Given the description of an element on the screen output the (x, y) to click on. 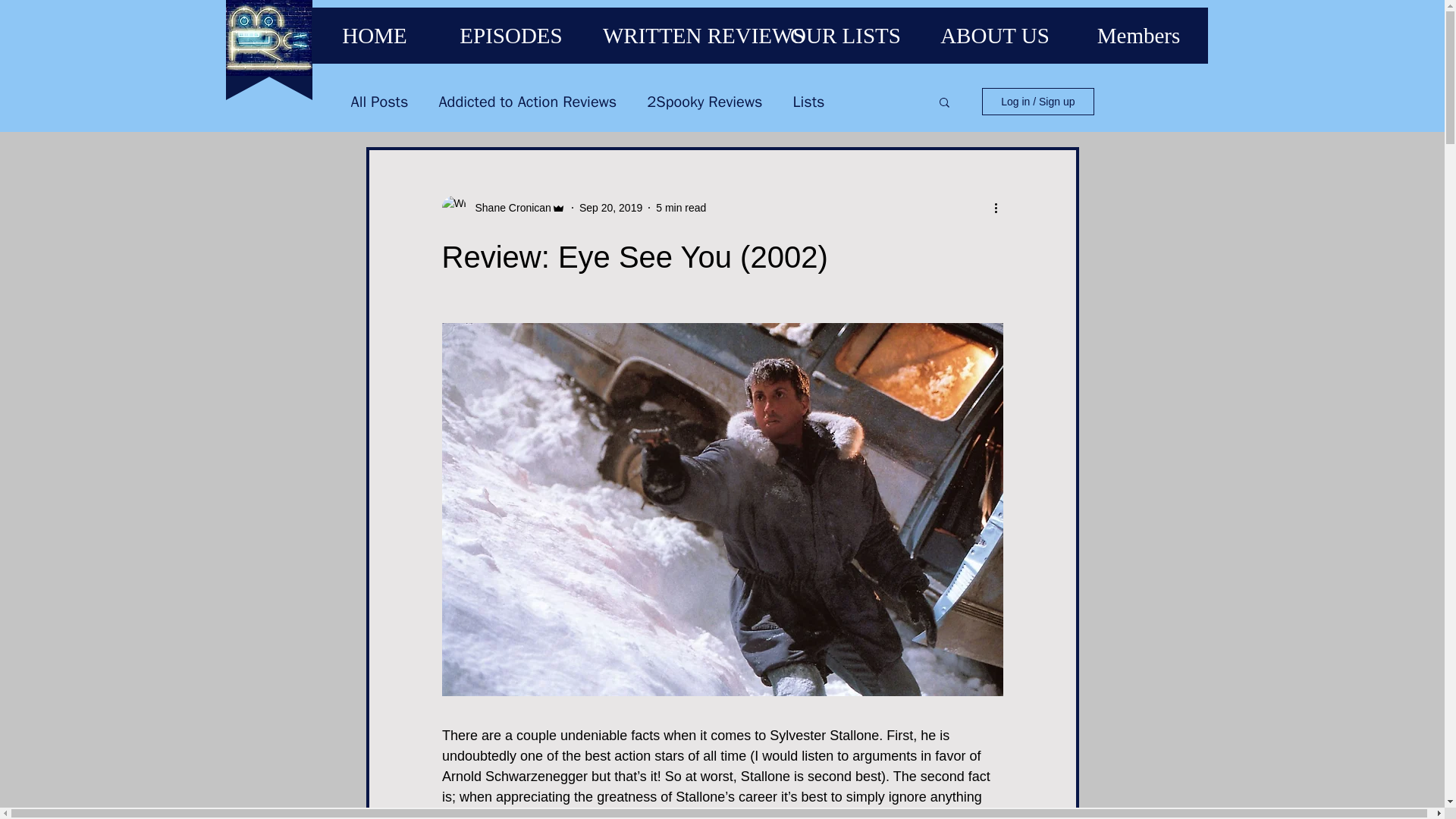
WRITTEN REVIEWS (676, 35)
EPISODES (511, 35)
Addicted to Action Reviews (526, 100)
Lists (808, 100)
OUR LISTS (845, 35)
5 min read (681, 207)
Members (1137, 35)
Shane Cronican (502, 207)
Shane Cronican (507, 207)
ABOUT US (995, 35)
